Given the description of an element on the screen output the (x, y) to click on. 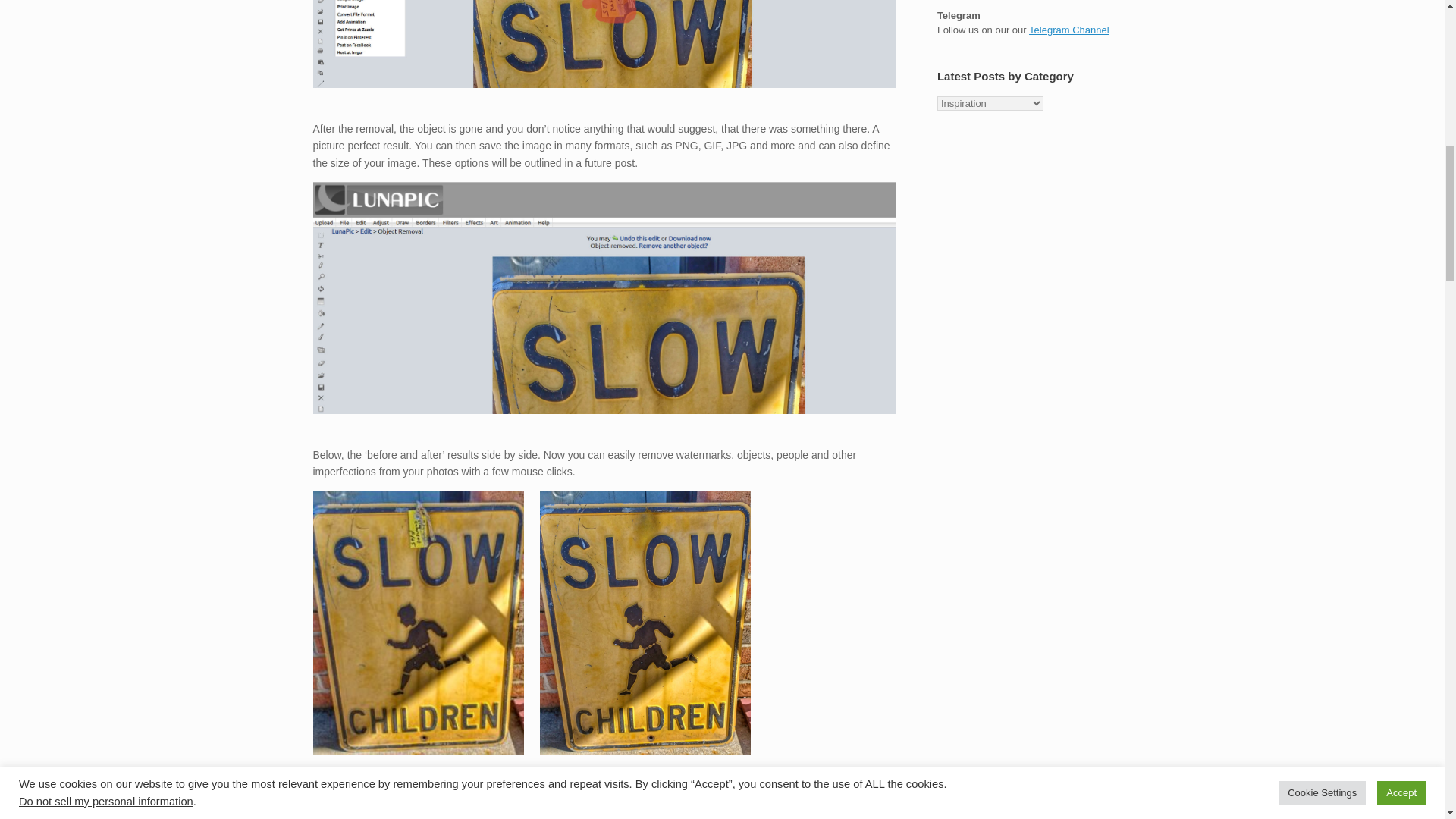
Telegram Channel (1069, 30)
